Given the description of an element on the screen output the (x, y) to click on. 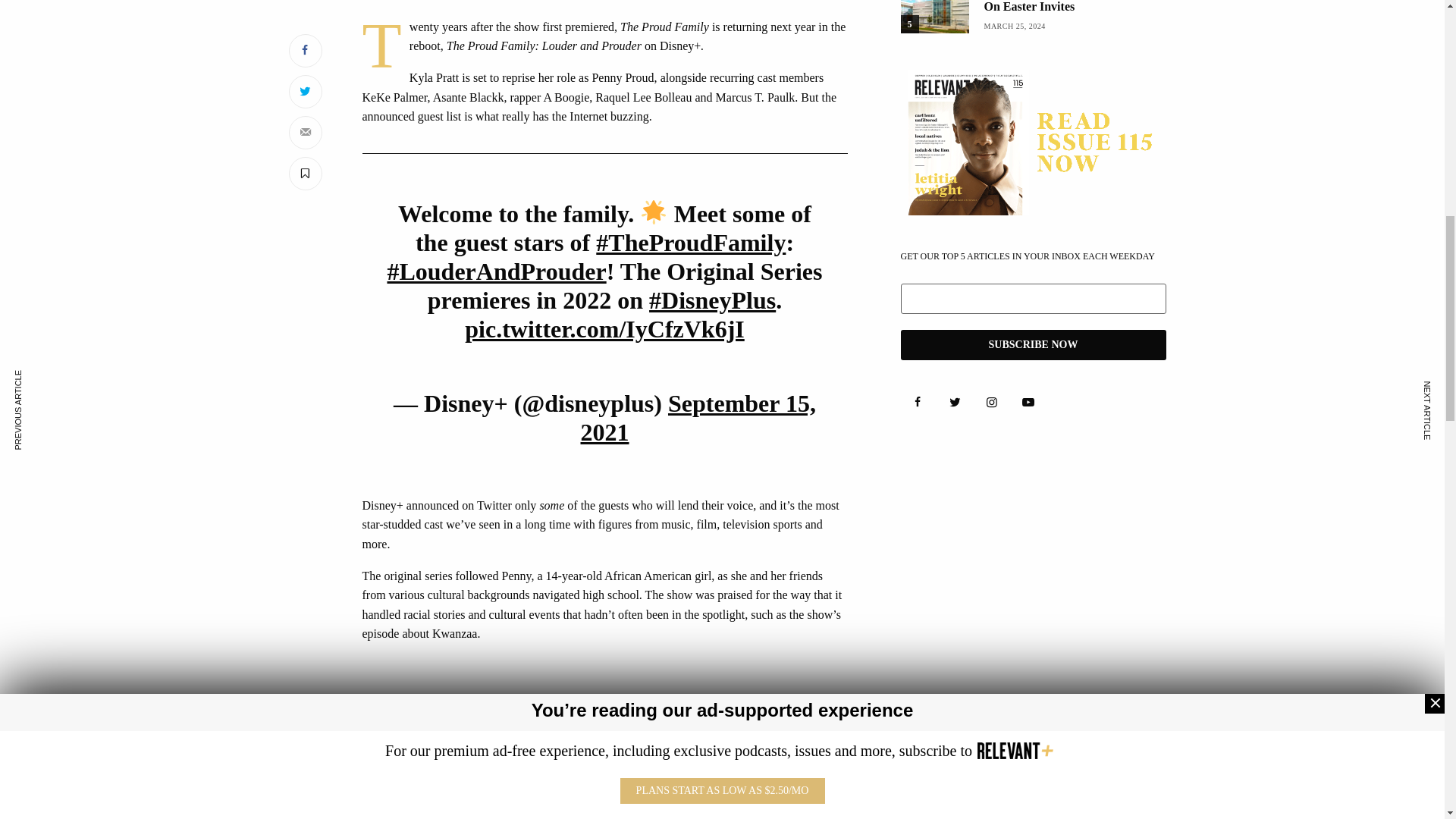
Subscribe Now (1033, 345)
